Given the description of an element on the screen output the (x, y) to click on. 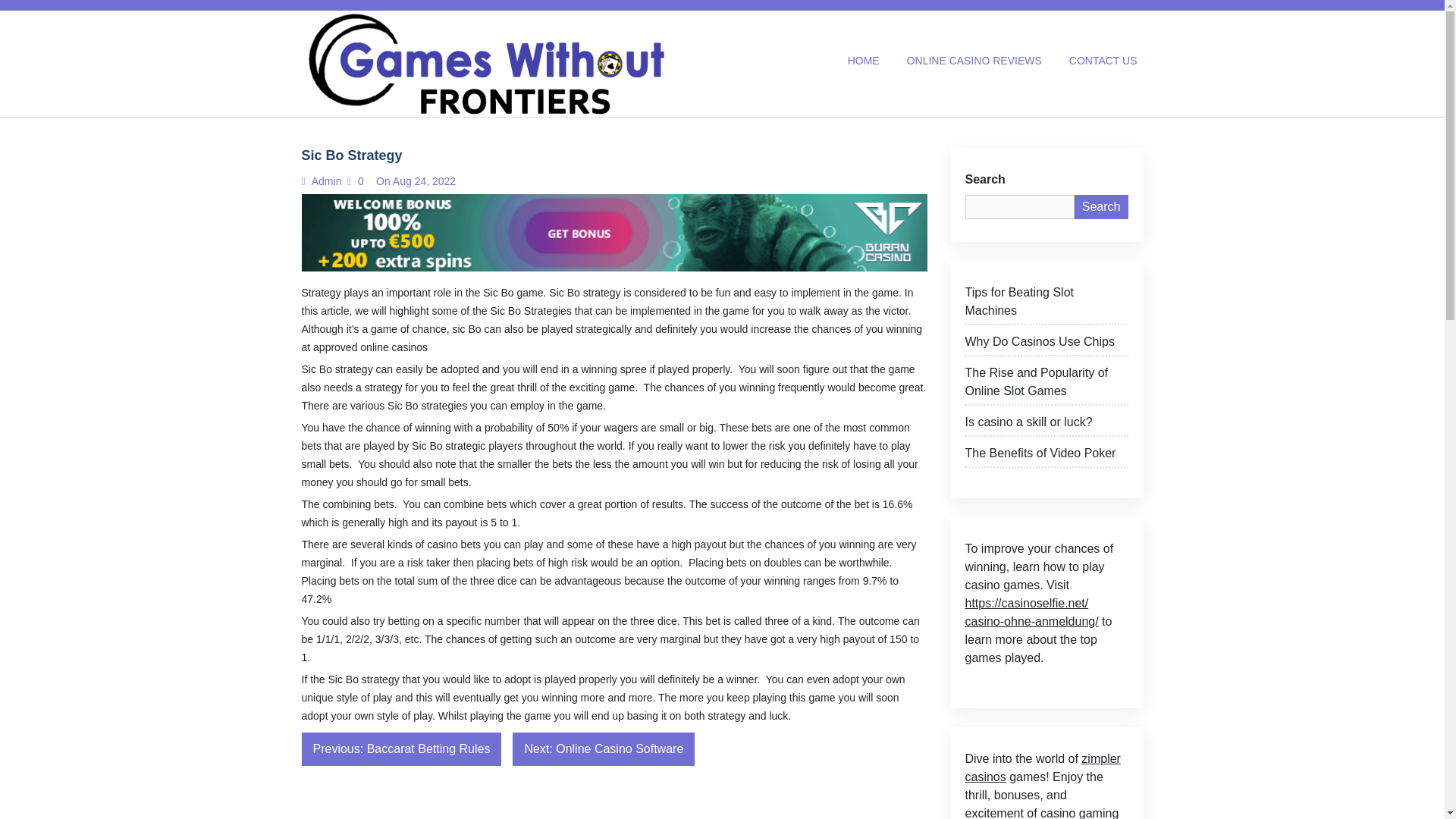
Is casino a skill or luck? (1044, 424)
The Rise and Popularity of Online Slot Games (1044, 384)
CONTACT US (1102, 60)
Search (1101, 206)
ONLINE CASINO REVIEWS (974, 60)
Admin (325, 181)
Next: Online Casino Software (603, 748)
Tips for Beating Slot Machines (1044, 304)
HOME (863, 60)
The Benefits of Video Poker (1044, 455)
Previous: Baccarat Betting Rules (401, 748)
Why Do Casinos Use Chips (1044, 344)
zimpler casinos (1041, 767)
